Given the description of an element on the screen output the (x, y) to click on. 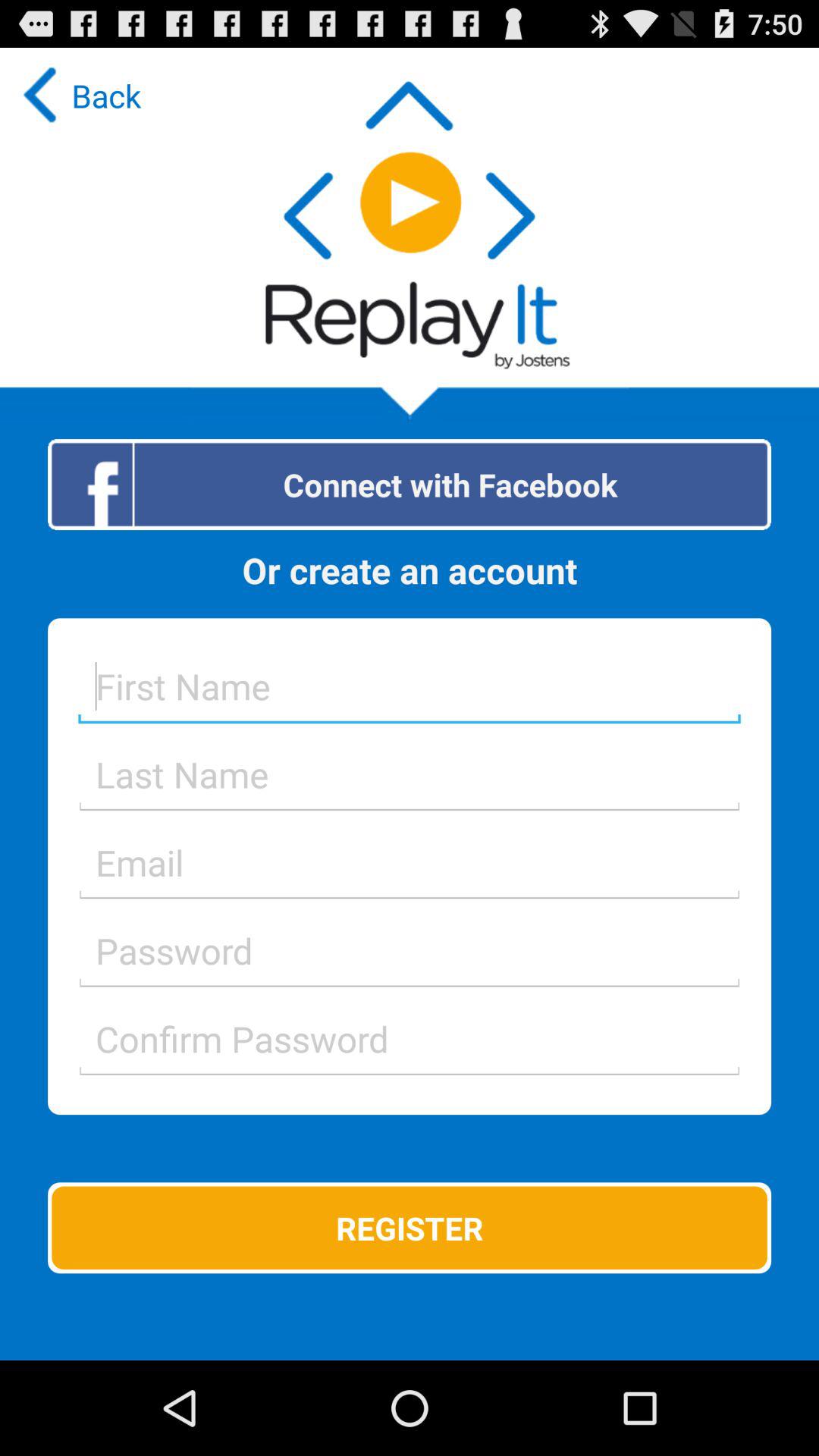
enter first name (409, 686)
